Given the description of an element on the screen output the (x, y) to click on. 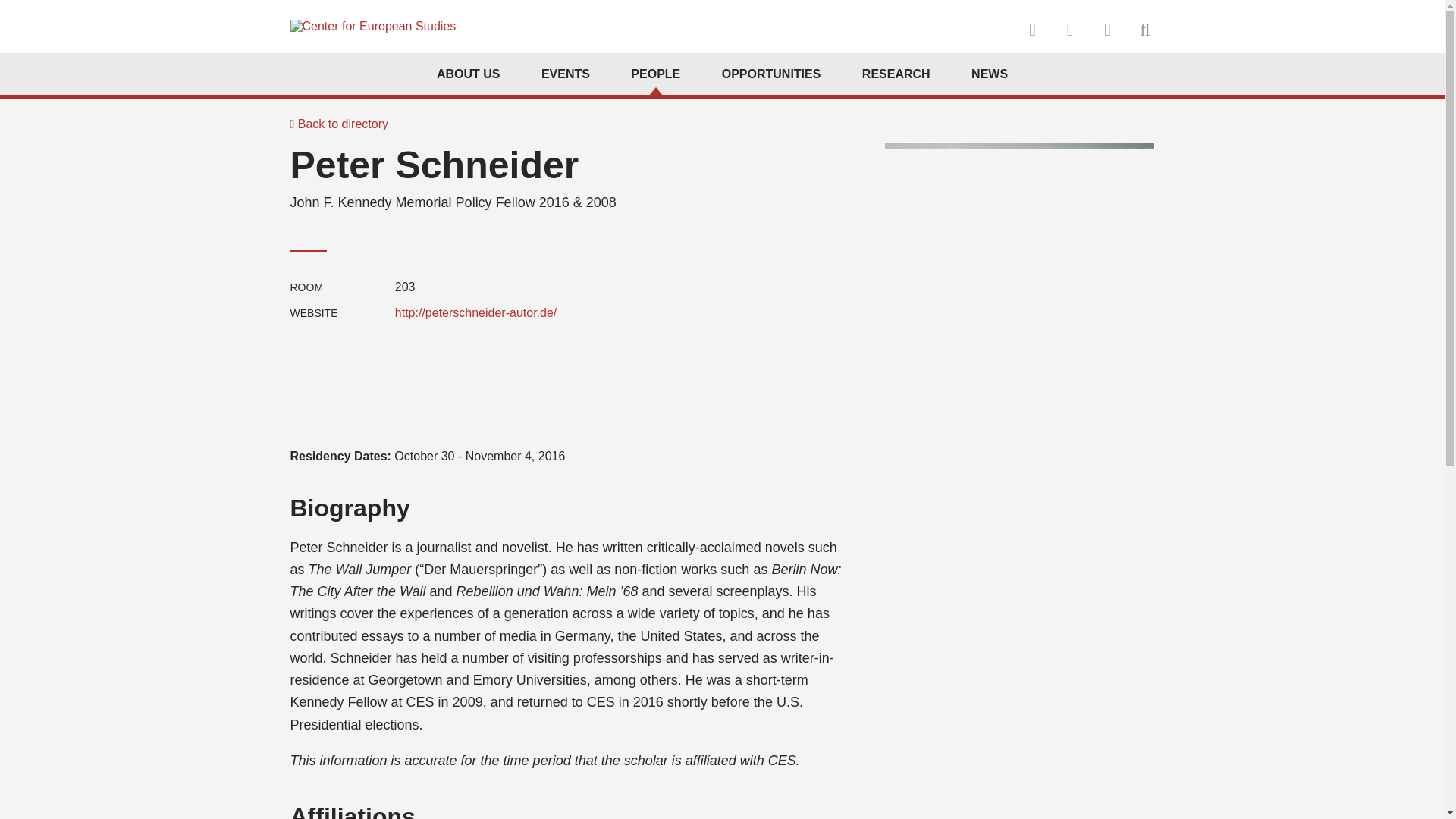
ABOUT US (468, 74)
EVENTS (565, 74)
PEOPLE (654, 74)
